Given the description of an element on the screen output the (x, y) to click on. 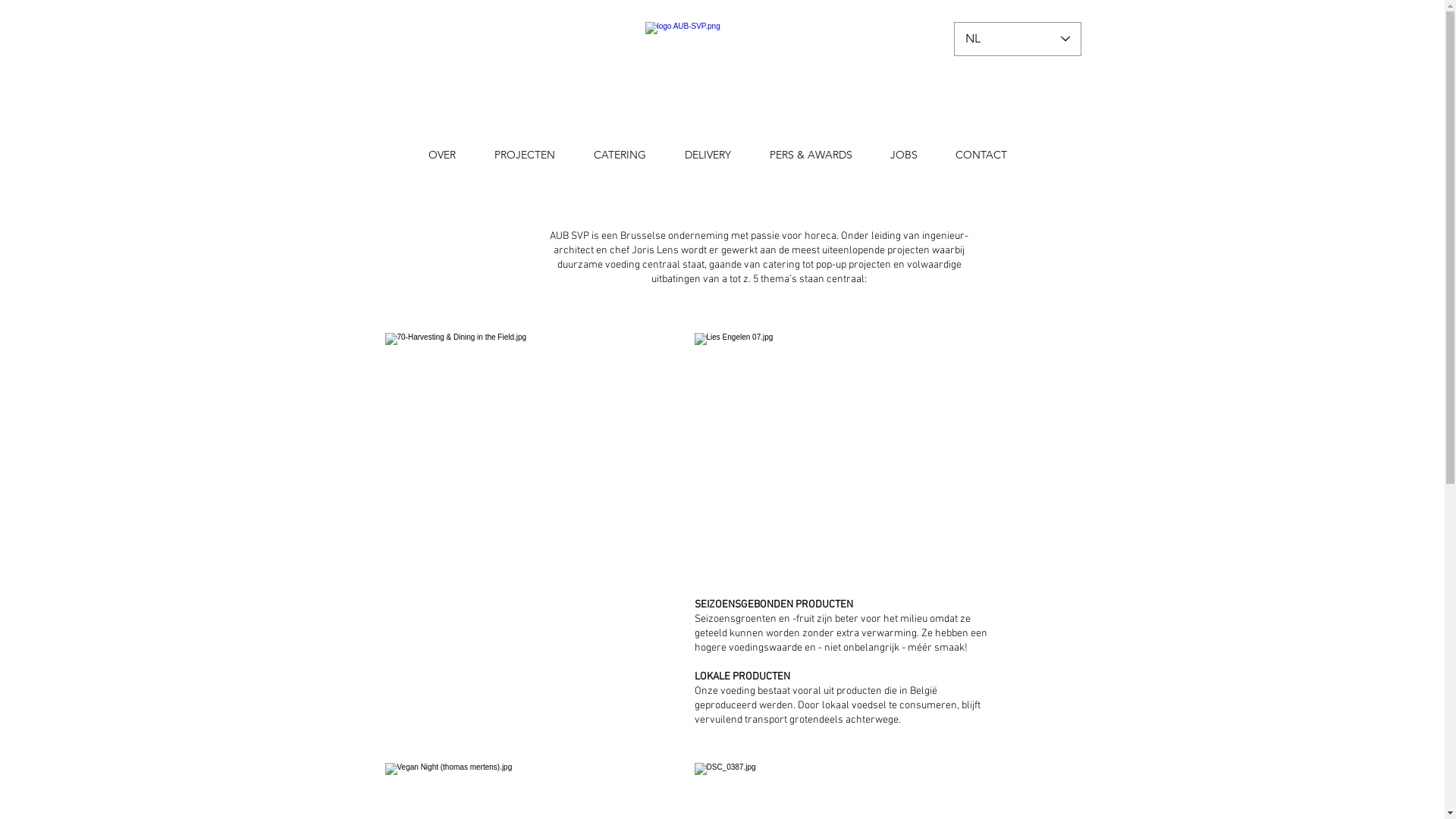
PERS & AWARDS Element type: text (810, 154)
CONTACT Element type: text (980, 154)
PROJECTEN Element type: text (524, 154)
DELIVERY Element type: text (707, 154)
CATERING Element type: text (619, 154)
OVER Element type: text (442, 154)
JOBS Element type: text (902, 154)
